Given the description of an element on the screen output the (x, y) to click on. 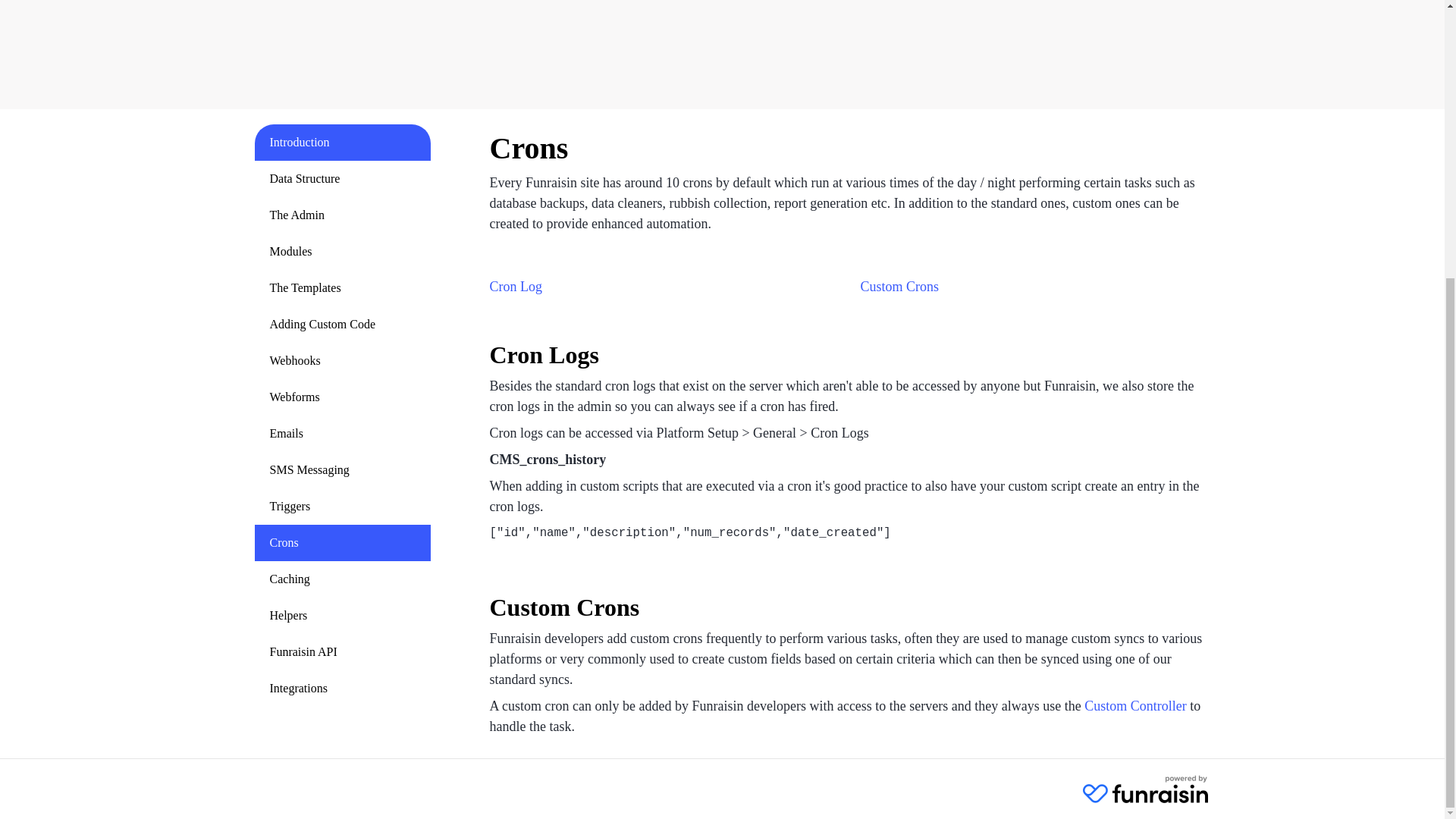
Webforms (342, 397)
Data Structure (342, 178)
Caching (342, 579)
Custom Crons (899, 286)
Helpers (342, 615)
Introduction (342, 142)
Cron Log (516, 286)
SMS Messaging (342, 470)
Custom Controller (1135, 705)
Crons (342, 542)
Triggers (342, 506)
The Templates (342, 288)
Adding Custom Code (342, 324)
Integrations (342, 688)
Funraisin API (342, 651)
